Given the description of an element on the screen output the (x, y) to click on. 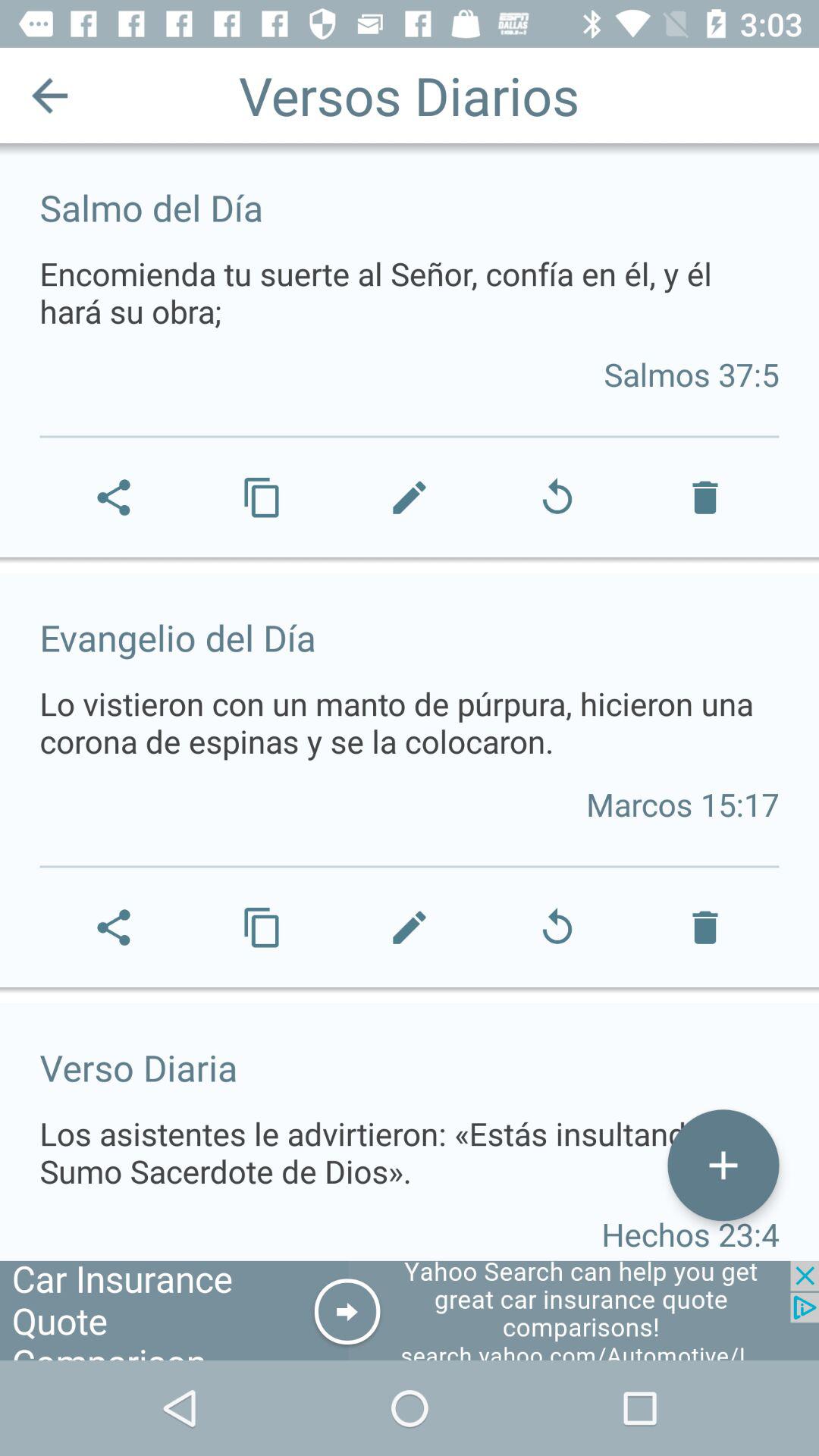
turn on app below the verso diaria icon (723, 1165)
